Given the description of an element on the screen output the (x, y) to click on. 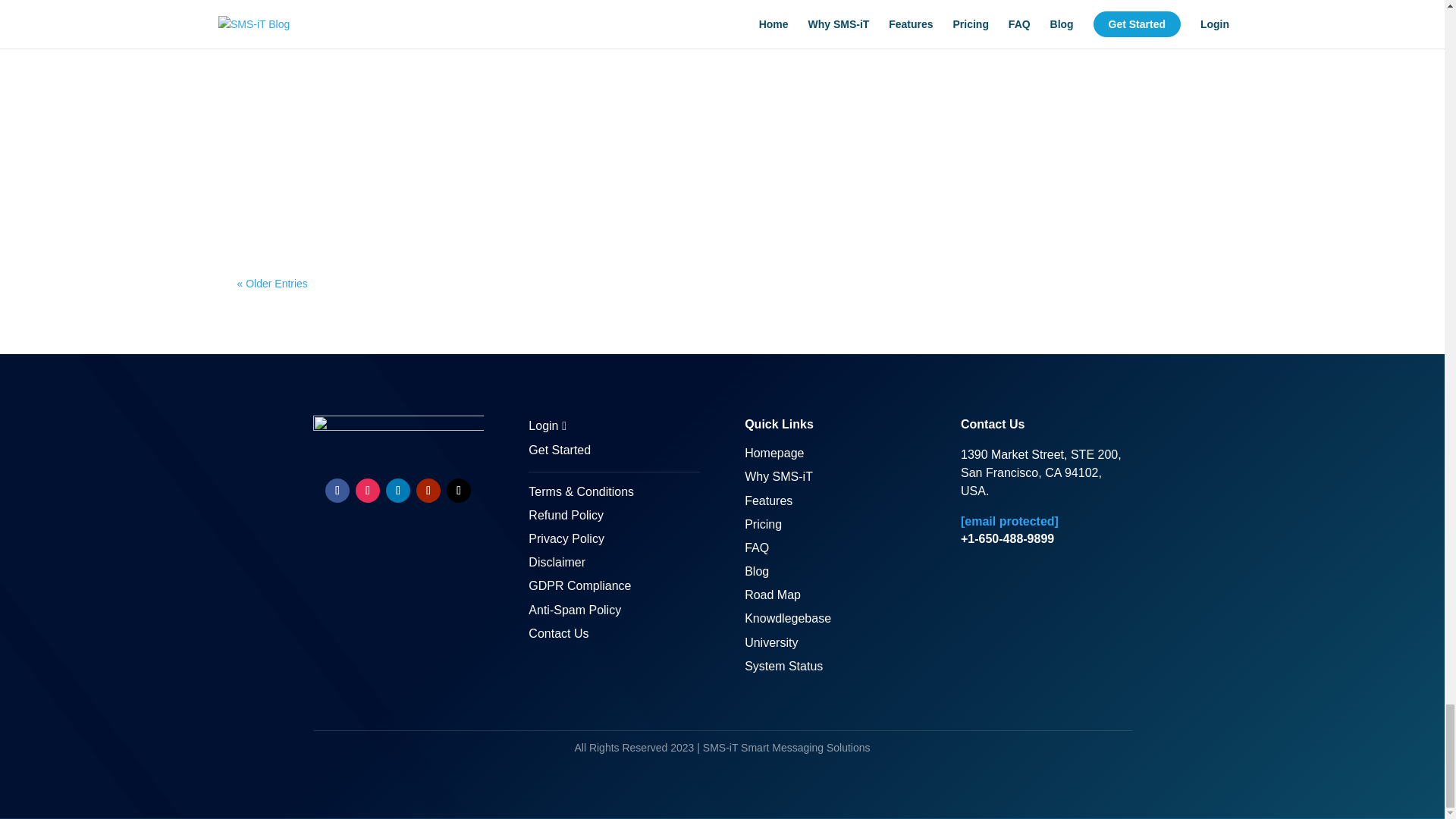
Follow on LinkedIn (397, 490)
Follow on Youtube (428, 490)
Follow on Instagram (367, 490)
logo-sm (398, 435)
Follow on Facebook (336, 490)
